Given the description of an element on the screen output the (x, y) to click on. 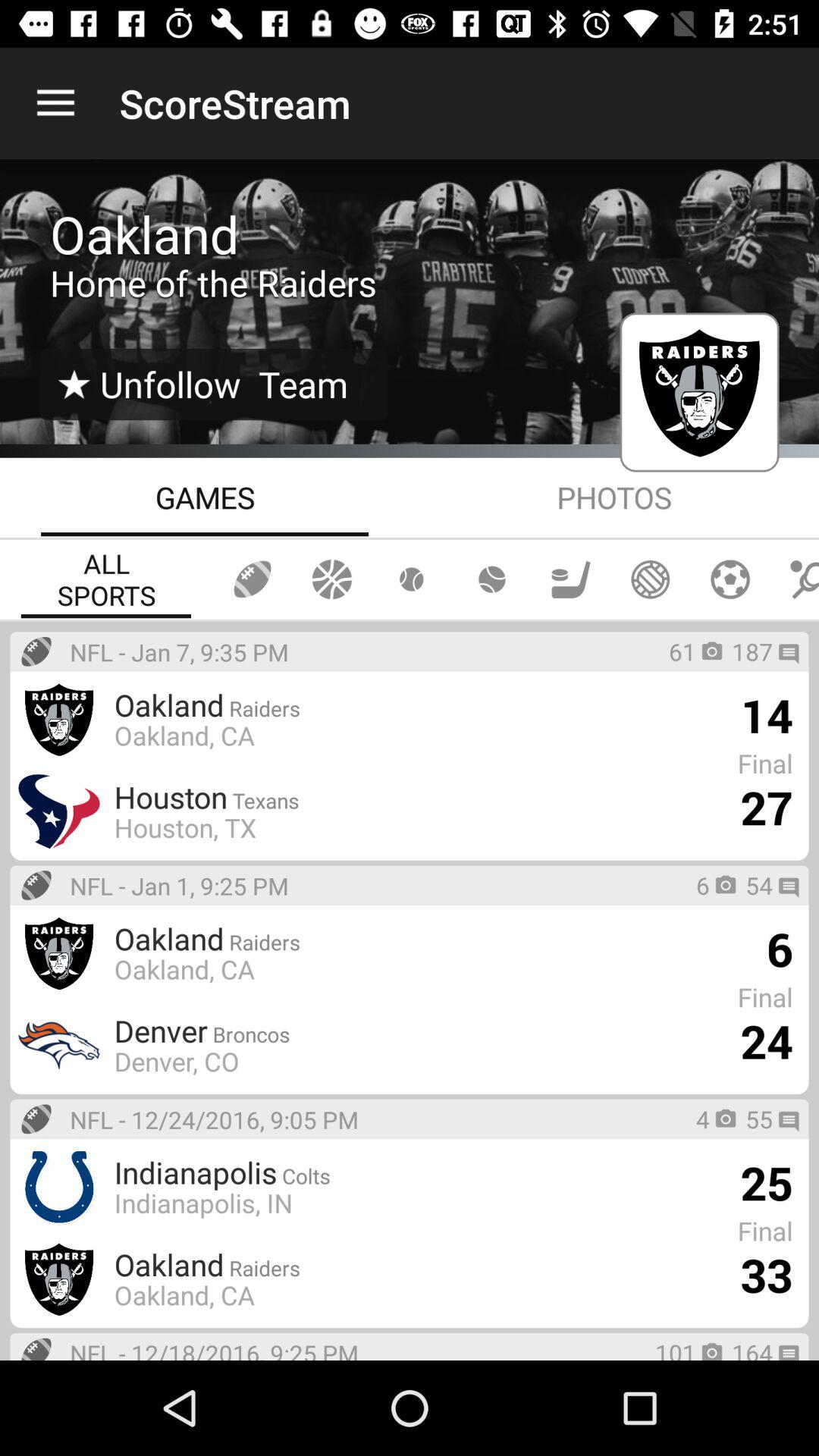
open the item to the left of the scorestream icon (55, 103)
